Given the description of an element on the screen output the (x, y) to click on. 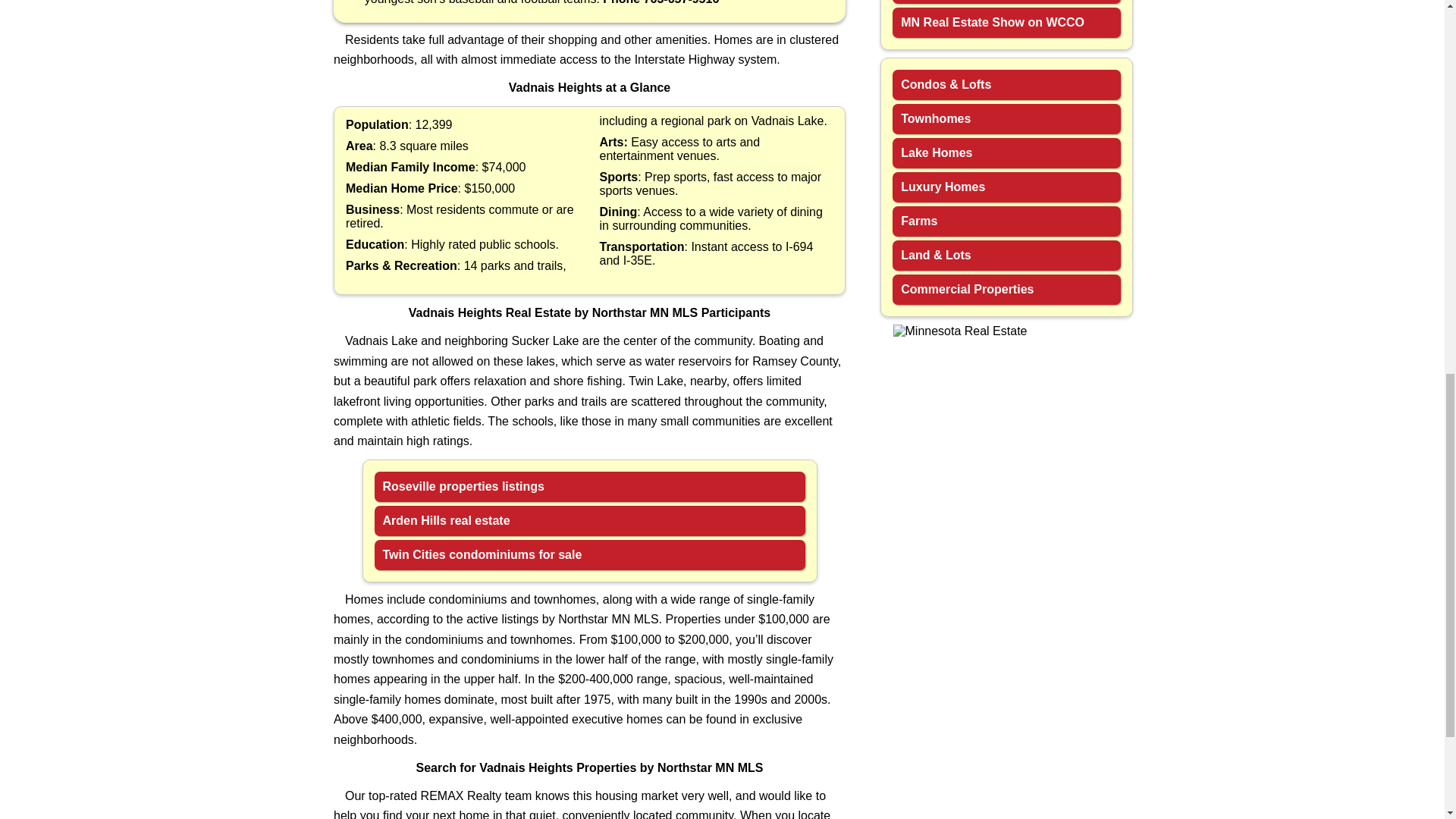
Commercial Properties (1006, 289)
Townhomes (1006, 119)
Twin Cities condominiums for sale (589, 554)
Guaranteed Home Sale (1006, 2)
Roseville properties listings (589, 486)
MN Real Estate Show on WCCO (1006, 22)
Lake Homes (1006, 153)
Arden Hills real estate (589, 521)
Farms (1006, 221)
Luxury Homes (1006, 186)
